Given the description of an element on the screen output the (x, y) to click on. 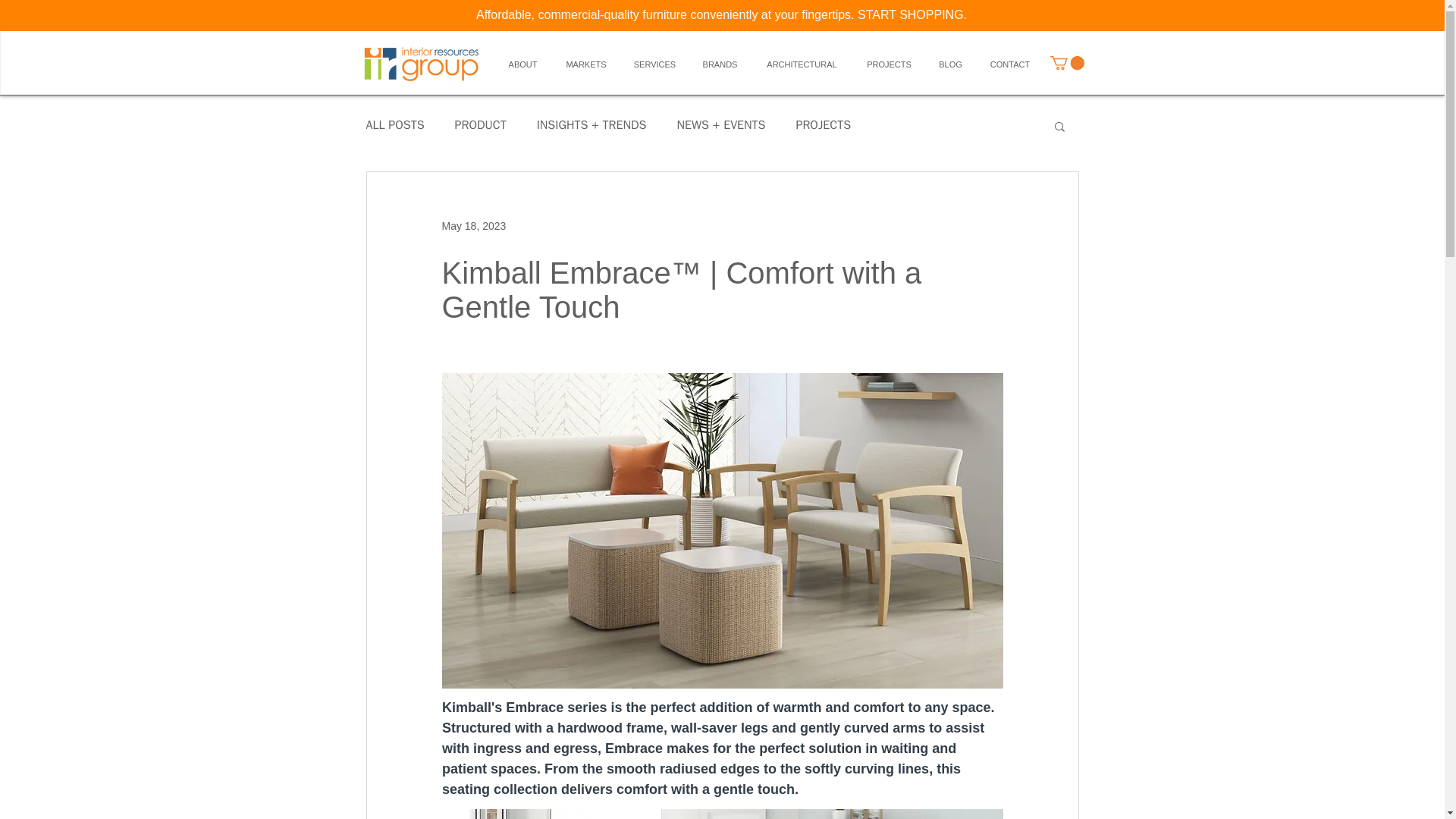
ARCHITECTURAL (801, 63)
PROJECTS (887, 63)
PRODUCT (480, 125)
May 18, 2023 (473, 225)
PROJECTS (822, 125)
MARKETS (586, 63)
BRANDS (719, 63)
ALL POSTS (394, 125)
CONTACT (1009, 63)
SERVICES (654, 63)
BLOG (949, 63)
ABOUT (523, 63)
